Given the description of an element on the screen output the (x, y) to click on. 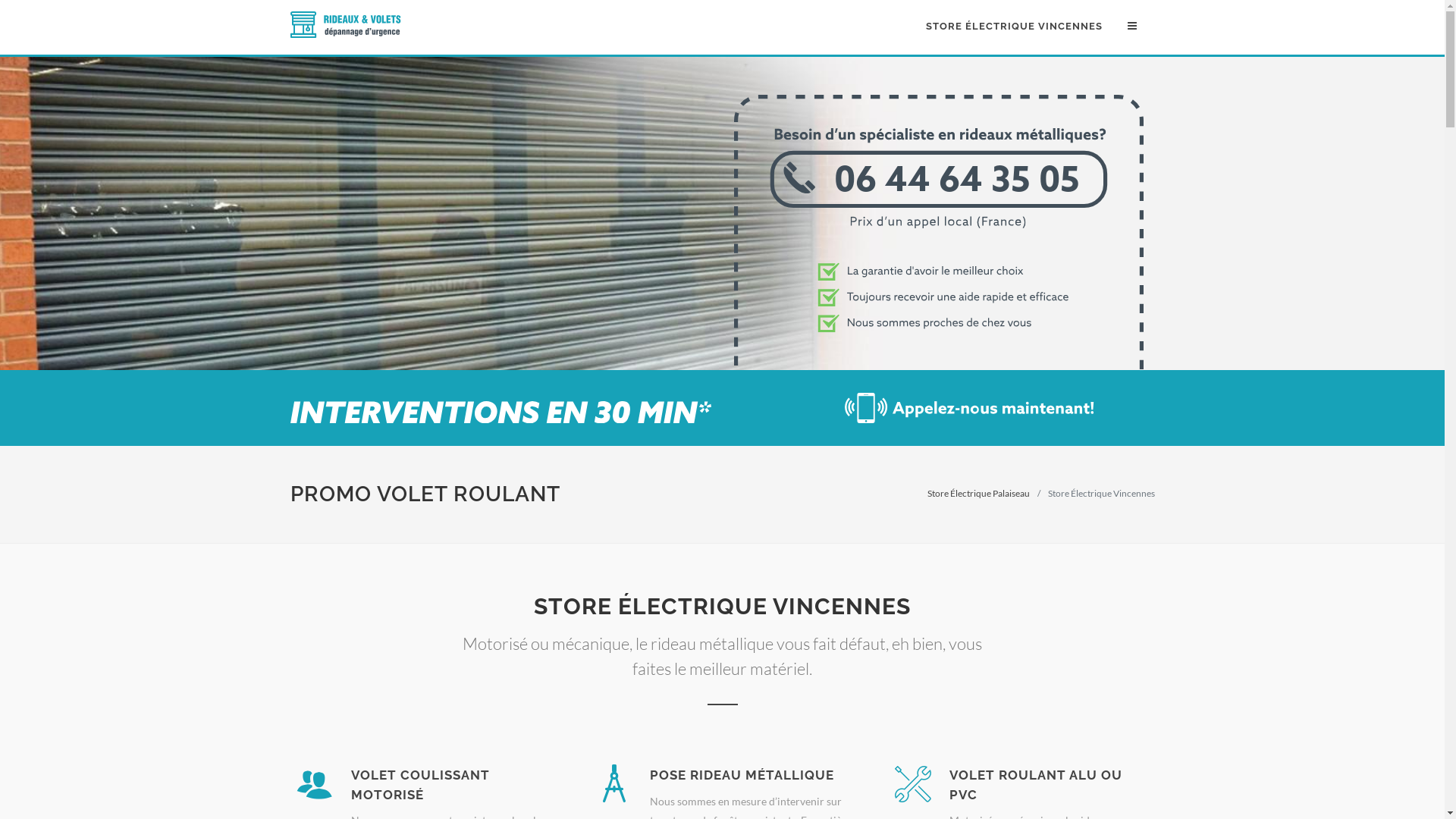
VOLET ROULANT ALU OU PVC Element type: text (1035, 784)
06 44 64 35 05 Element type: text (938, 365)
